Given the description of an element on the screen output the (x, y) to click on. 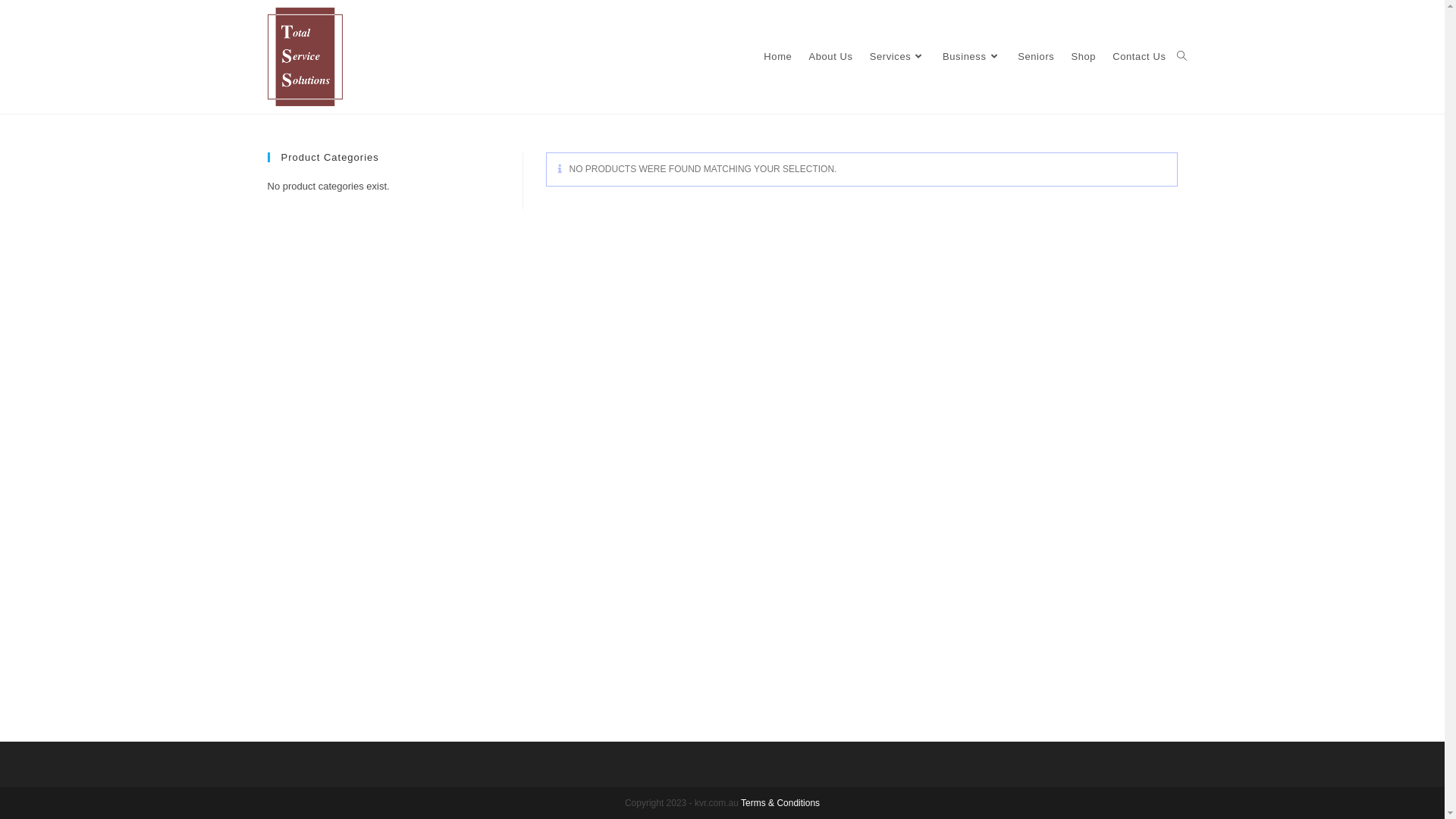
Seniors Element type: text (1035, 56)
Services Element type: text (897, 56)
About Us Element type: text (830, 56)
Shop Element type: text (1083, 56)
Contact Us Element type: text (1138, 56)
Business Element type: text (971, 56)
Home Element type: text (777, 56)
Terms & Conditions Element type: text (779, 802)
